Given the description of an element on the screen output the (x, y) to click on. 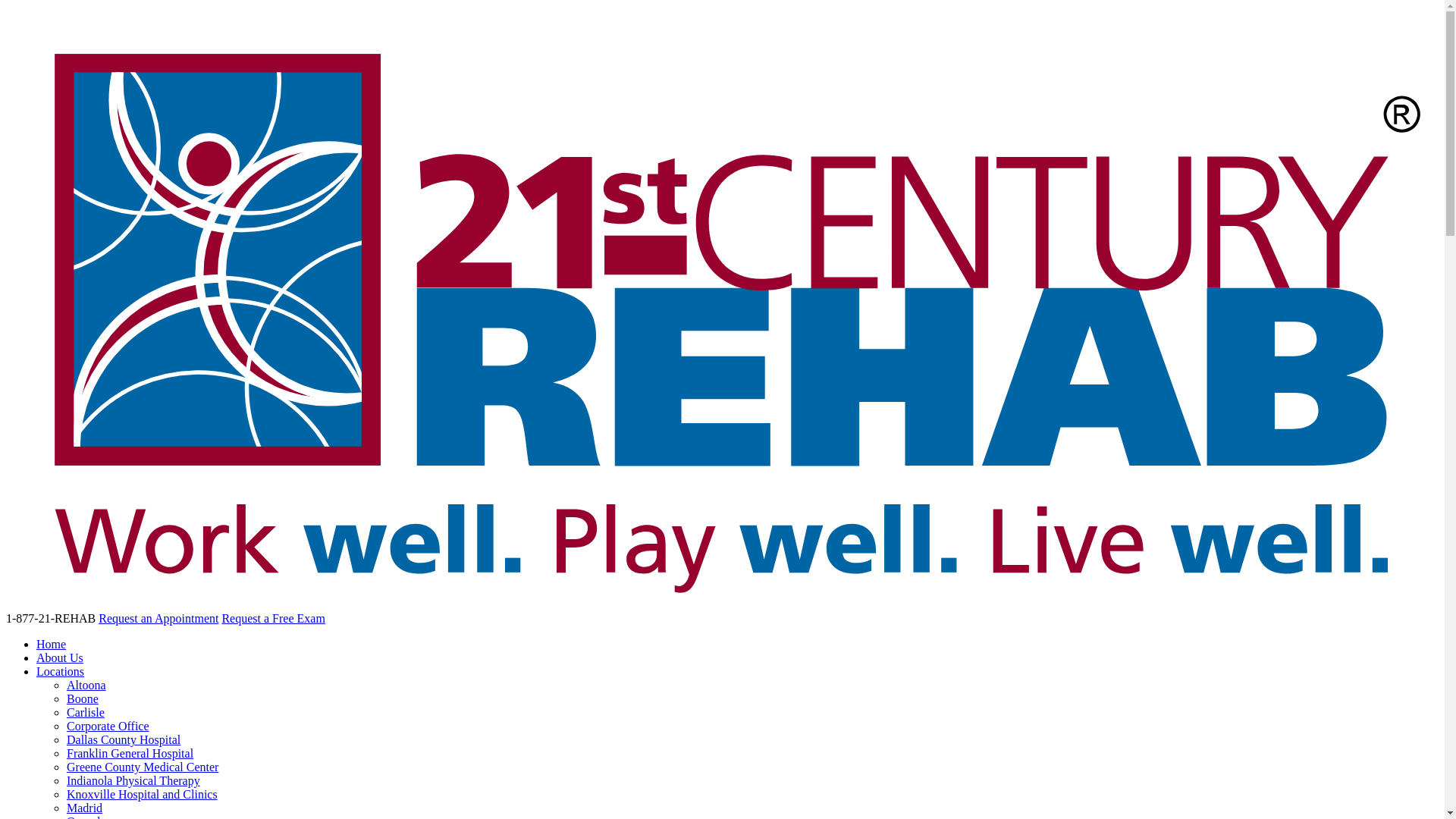
Corporate Office Element type: text (107, 725)
Greene County Medical Center Element type: text (142, 766)
Request an Appointment Element type: text (158, 617)
Indianola Physical Therapy Element type: text (133, 780)
Boone Element type: text (82, 698)
Home Element type: text (50, 643)
Knoxville Hospital and Clinics Element type: text (141, 793)
Altoona Element type: text (86, 684)
Request a Free Exam Element type: text (272, 617)
Madrid Element type: text (84, 807)
Carlisle Element type: text (85, 712)
Dallas County Hospital Element type: text (123, 739)
Franklin General Hospital Element type: text (129, 752)
About Us Element type: text (59, 657)
Locations Element type: text (60, 671)
